Given the description of an element on the screen output the (x, y) to click on. 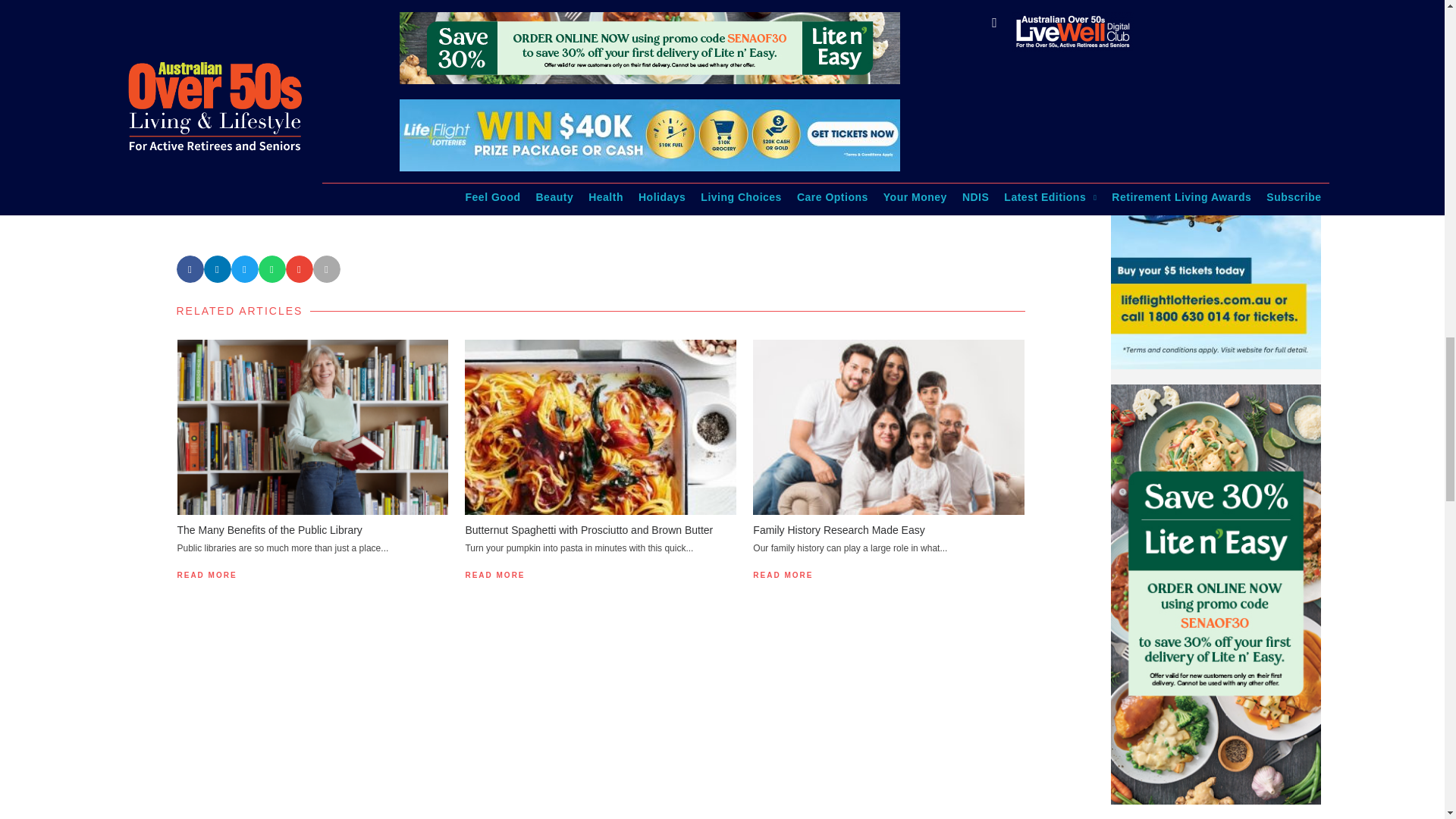
Family History Research Made Easy (838, 530)
Butternut Spaghetti with Prosciutto and Brown Butter (588, 530)
The Many Benefits of the Public Library (269, 530)
